Given the description of an element on the screen output the (x, y) to click on. 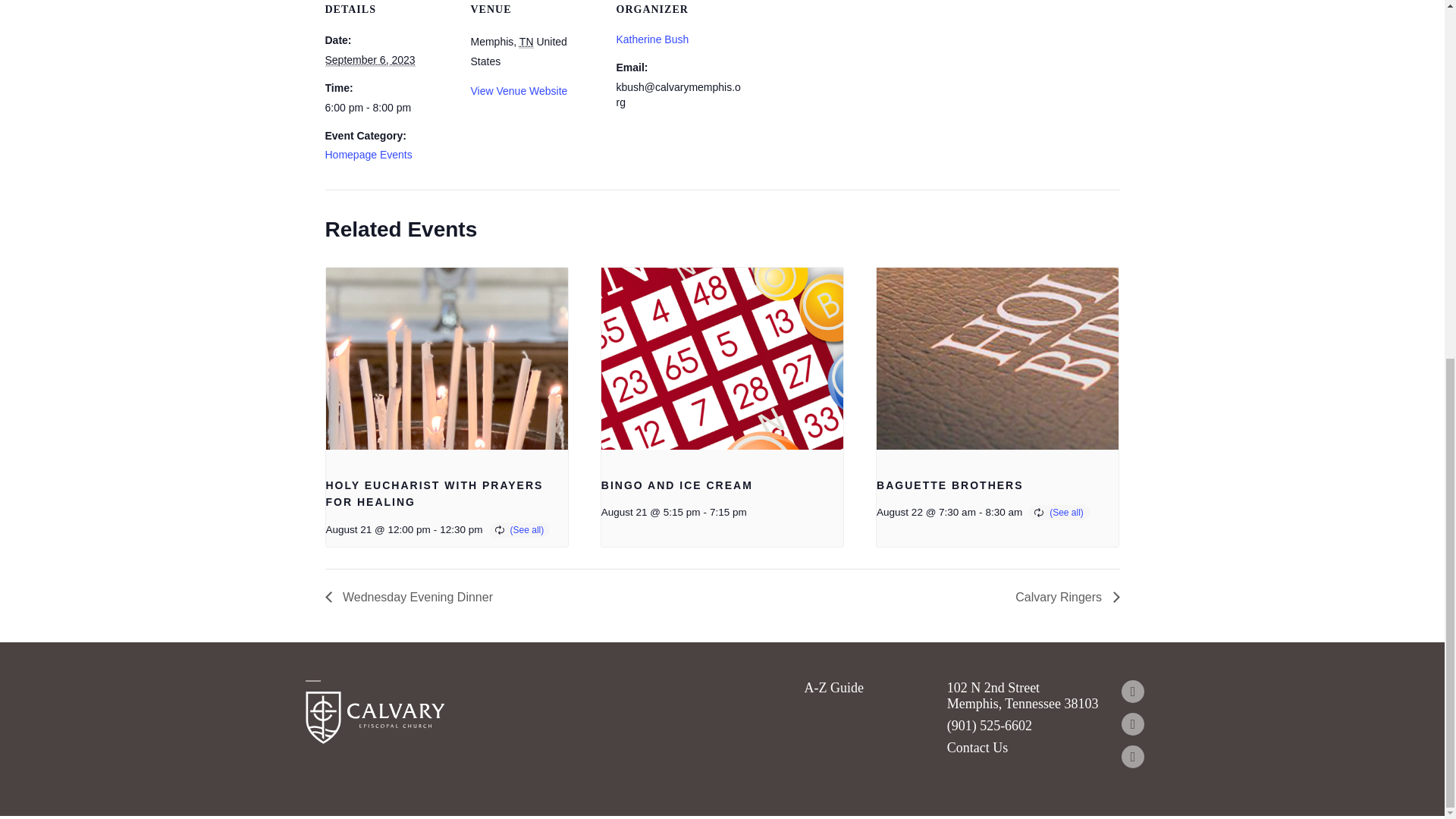
Katherine Bush (651, 39)
2023-09-06 (387, 107)
Tennessee (526, 42)
2023-09-06 (369, 60)
